Given the description of an element on the screen output the (x, y) to click on. 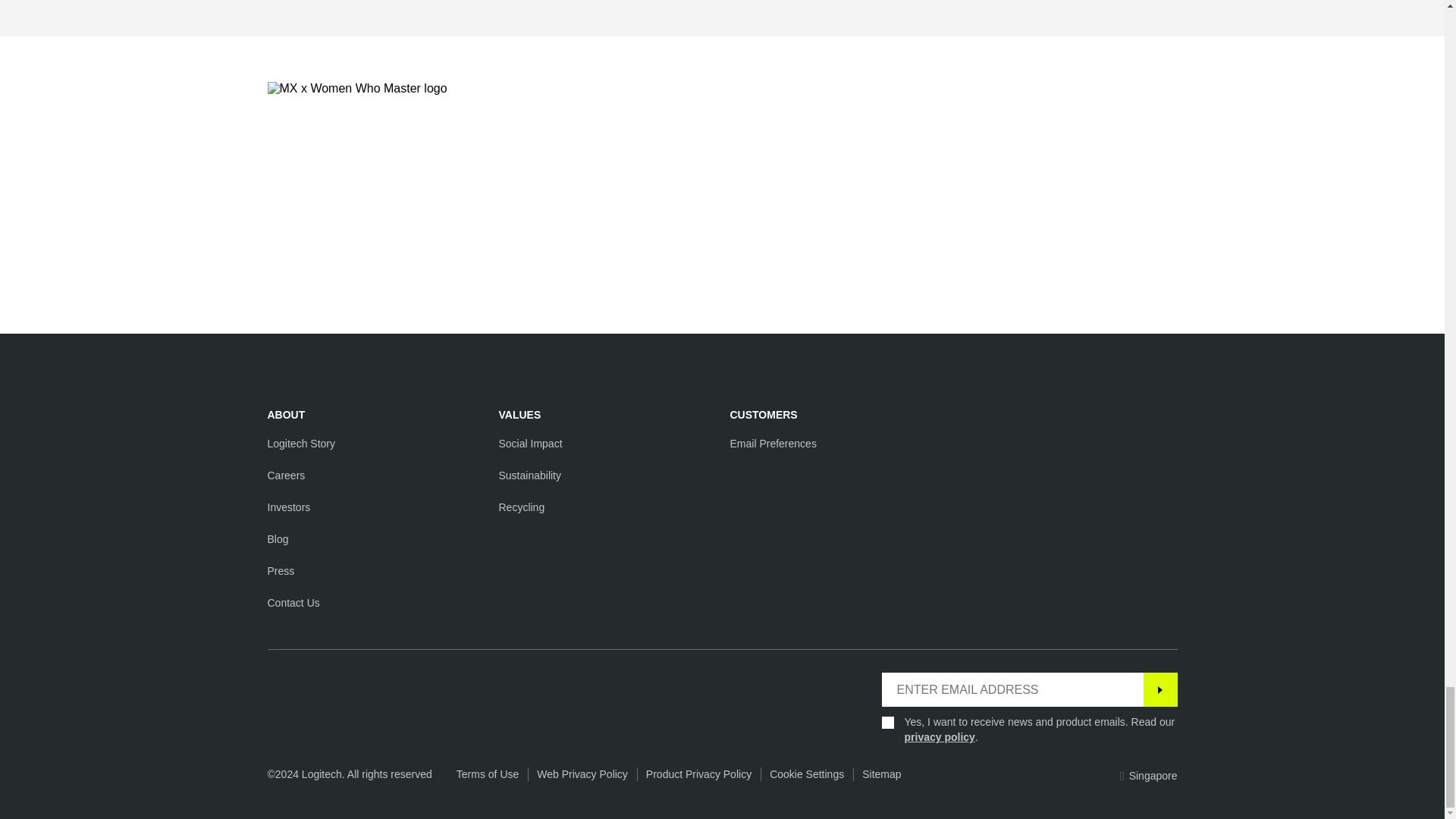
Email Preferences (772, 443)
